Given the description of an element on the screen output the (x, y) to click on. 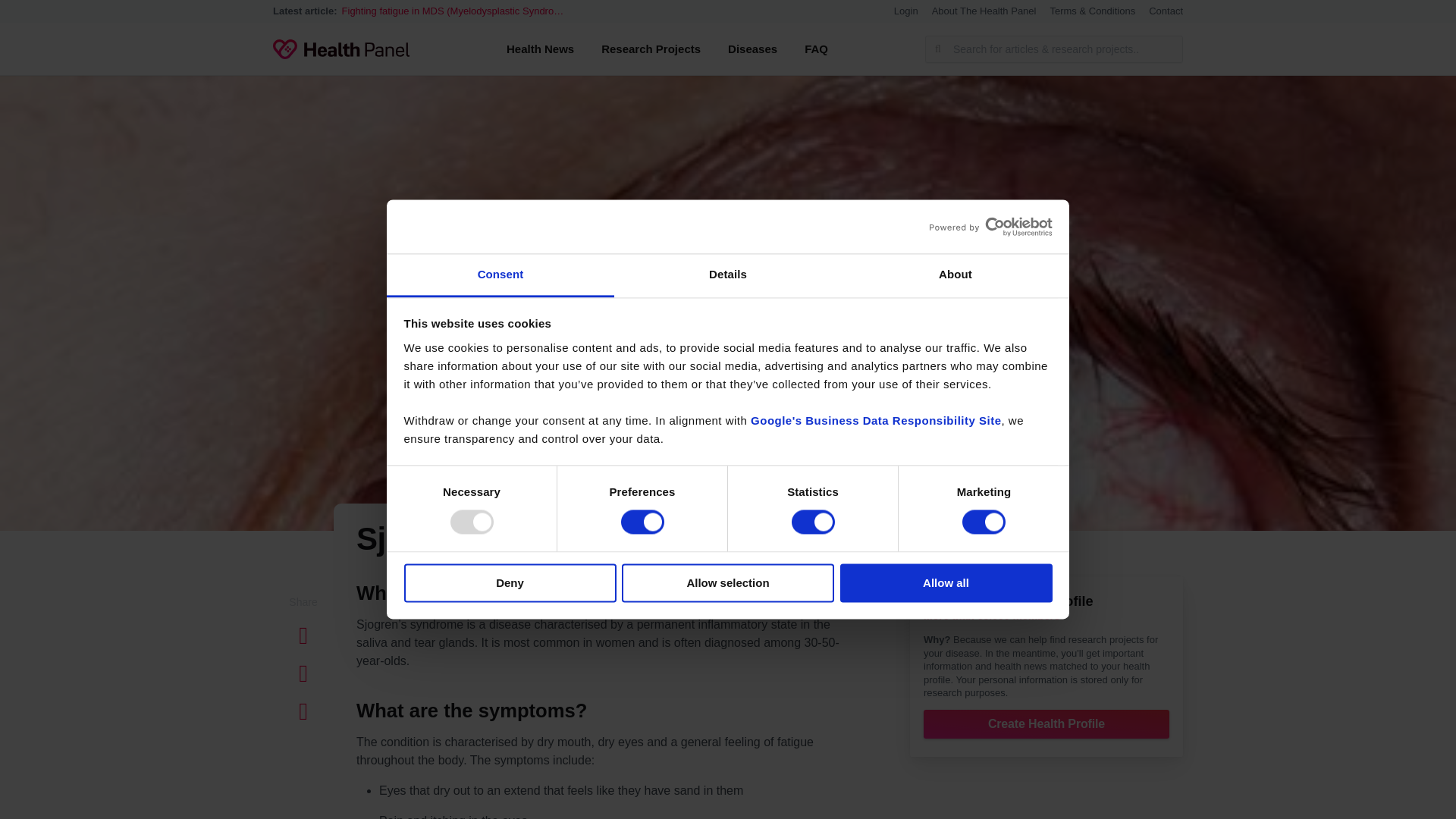
About (954, 275)
Details (727, 275)
Consent (500, 275)
Login (905, 10)
Google's Business Data Responsibility Site (876, 420)
